Given the description of an element on the screen output the (x, y) to click on. 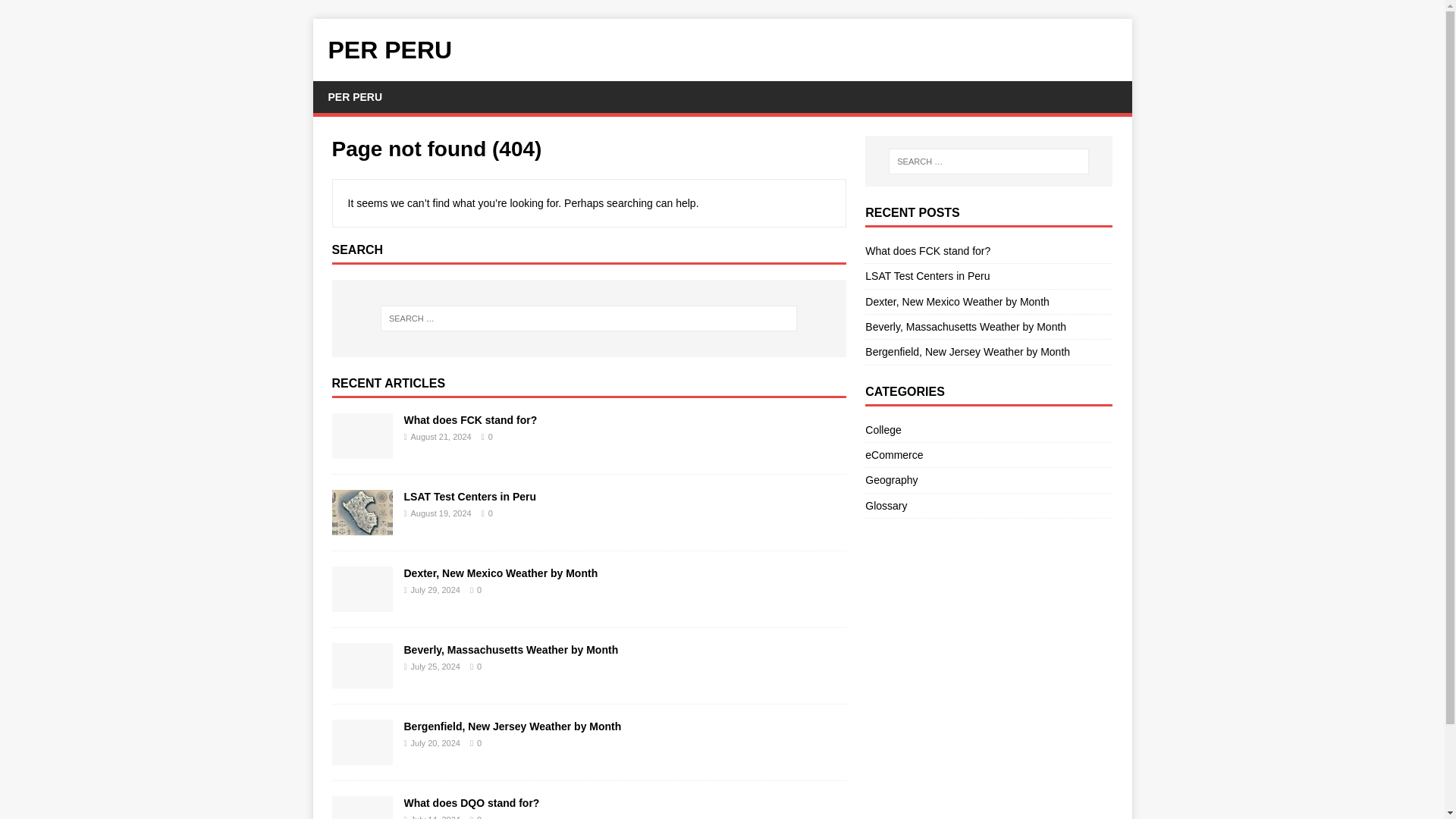
What does DQO stand for? (470, 802)
Beverly, Massachusetts Weather by Month (362, 679)
Beverly, Massachusetts Weather by Month (964, 326)
eCommerce (988, 454)
Per Peru (721, 49)
Beverly, Massachusetts Weather by Month (510, 649)
PER PERU (355, 97)
LSAT Test Centers in Peru (362, 526)
What does FCK stand for? (927, 250)
Dexter, New Mexico Weather by Month (956, 301)
